Given the description of an element on the screen output the (x, y) to click on. 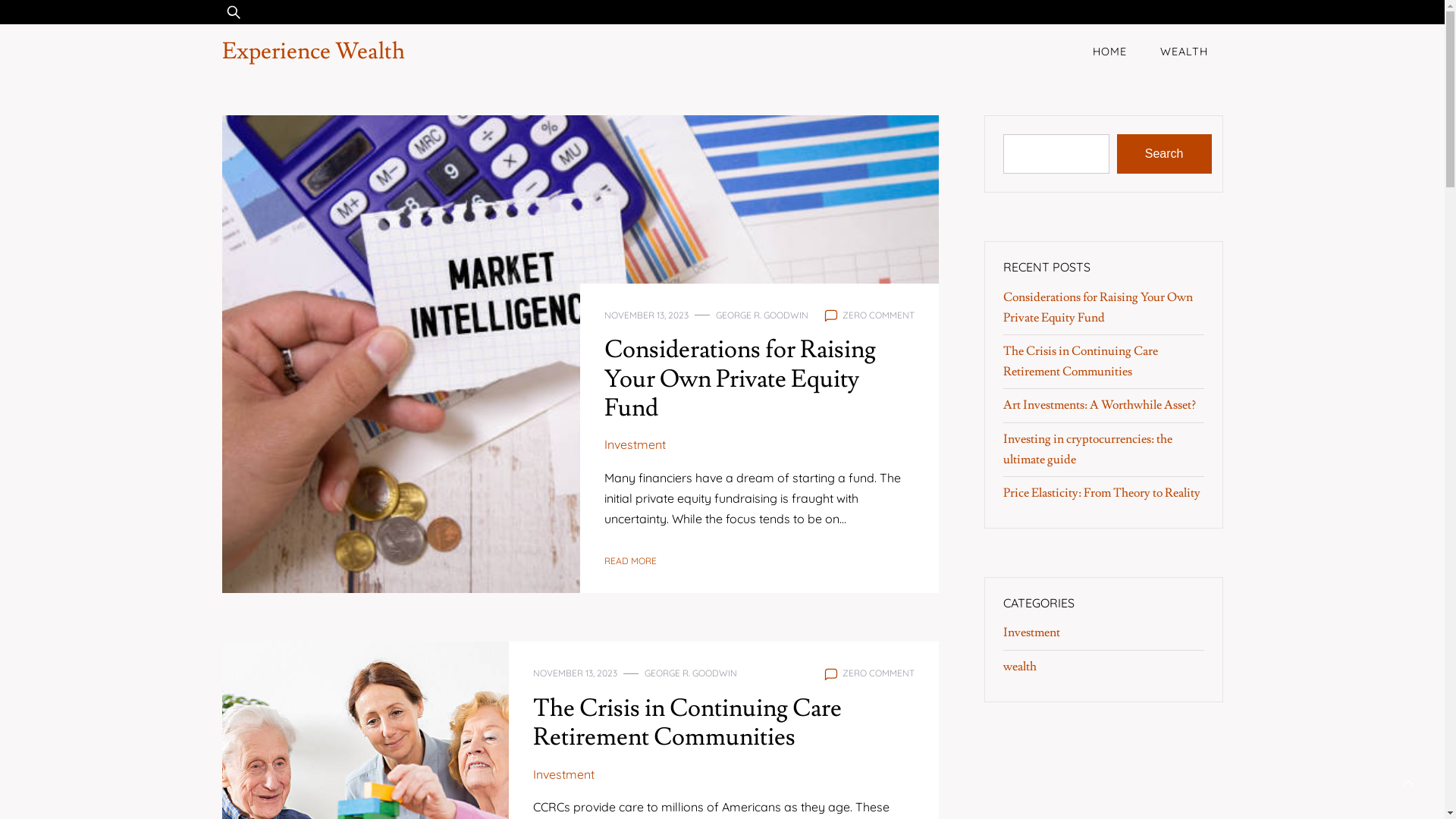
Investment Element type: text (562, 774)
READ MORE Element type: text (630, 560)
Investment Element type: text (634, 444)
GEORGE R. GOODWIN Element type: text (690, 672)
WEALTH Element type: text (1184, 51)
HOME Element type: text (1108, 51)
Investing in cryptocurrencies: the ultimate guide Element type: text (1086, 449)
The Crisis in Continuing Care Retirement Communities Element type: text (686, 722)
Search Element type: text (1164, 153)
wealth Element type: text (1018, 666)
Experience Wealth Element type: text (312, 50)
NOVEMBER 13, 2023 Element type: text (574, 672)
Art Investments: A Worthwhile Asset? Element type: text (1098, 404)
ZERO COMMENT Element type: text (877, 315)
GEORGE R. GOODWIN Element type: text (761, 315)
Investment Element type: text (1030, 632)
Price Elasticity: From Theory to Reality Element type: text (1100, 492)
Considerations for Raising Your Own Private Equity Fund Element type: text (739, 378)
NOVEMBER 13, 2023 Element type: text (646, 315)
Considerations for Raising Your Own Private Equity Fund Element type: text (1097, 307)
The Crisis in Continuing Care Retirement Communities Element type: text (1079, 361)
Search Element type: text (55, 21)
ZERO COMMENT Element type: text (877, 672)
